Given the description of an element on the screen output the (x, y) to click on. 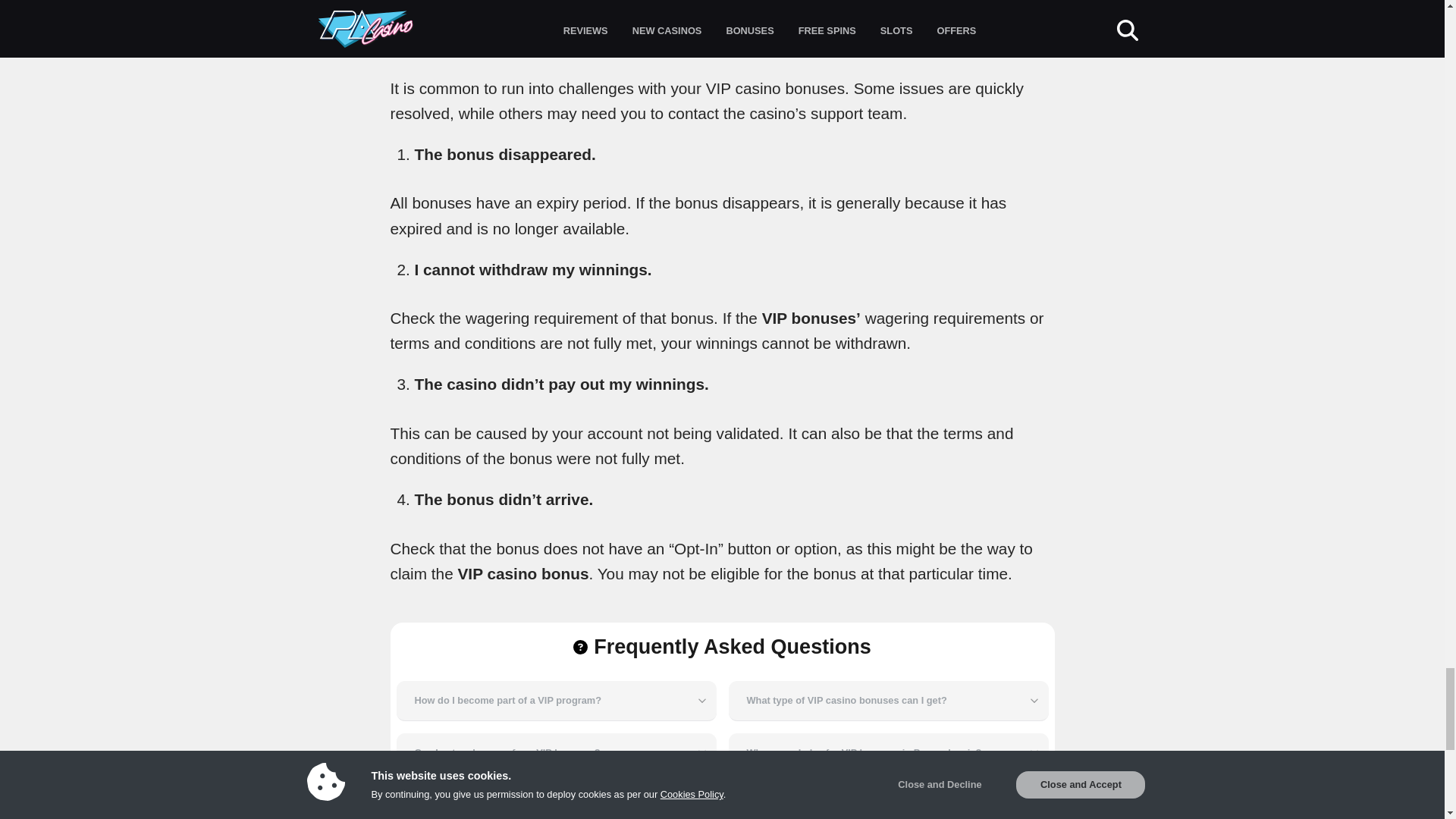
What type of VIP casino bonuses can I get? (888, 700)
Can I get real money from VIP bonuses? (556, 753)
Where can I play for VIP bonuses in Pennsylvania? (888, 753)
How do I become part of a VIP program? (556, 700)
